Given the description of an element on the screen output the (x, y) to click on. 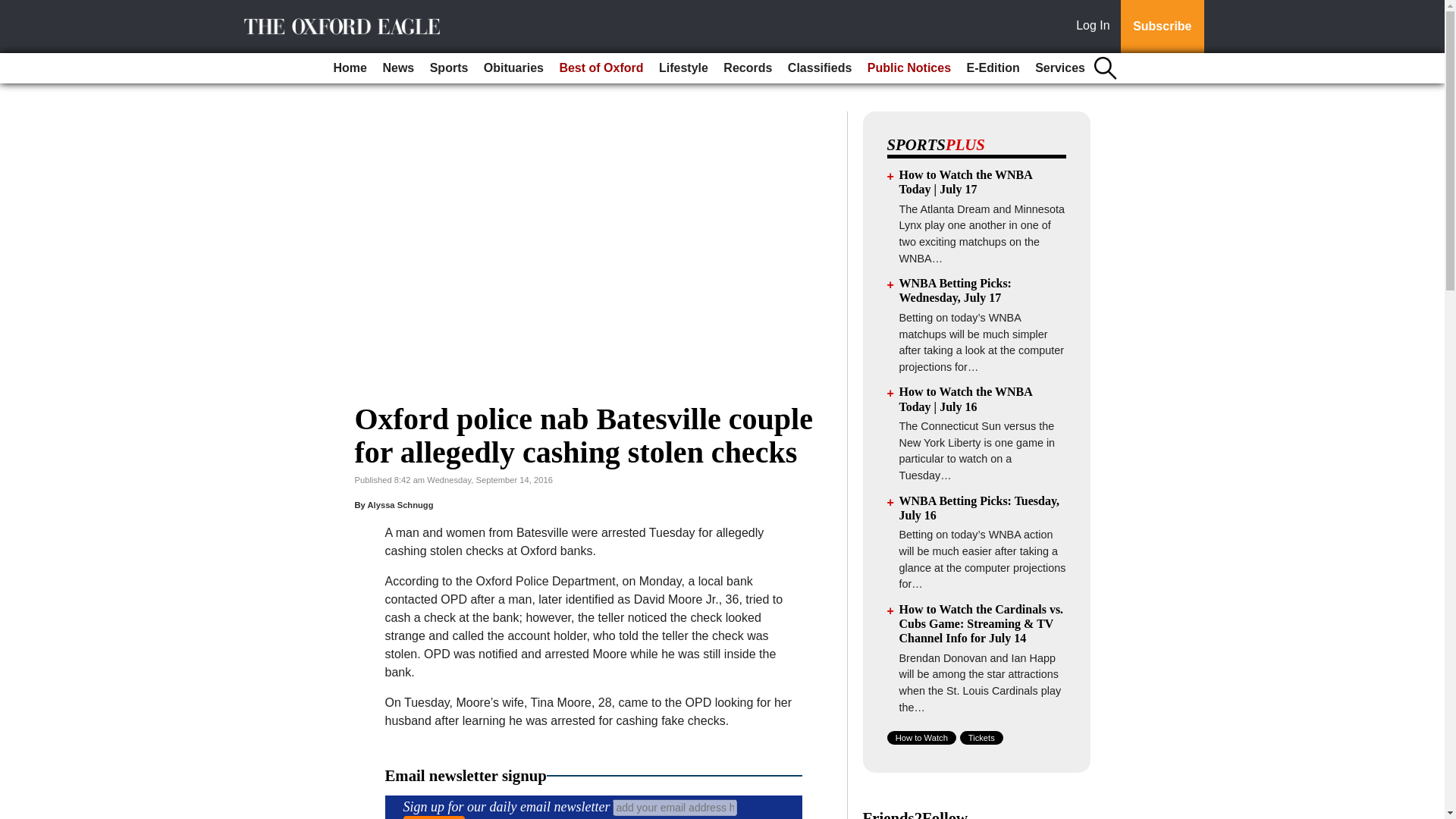
Subscribe (434, 817)
News (397, 68)
Classifieds (819, 68)
WNBA Betting Picks: Wednesday, July 17 (955, 289)
WNBA Betting Picks: Tuesday, July 16 (979, 507)
Log In (1095, 26)
Home (349, 68)
Obituaries (513, 68)
Sports (448, 68)
Subscribe (1162, 26)
Records (747, 68)
Best of Oxford (601, 68)
E-Edition (992, 68)
Lifestyle (683, 68)
Public Notices (908, 68)
